Given the description of an element on the screen output the (x, y) to click on. 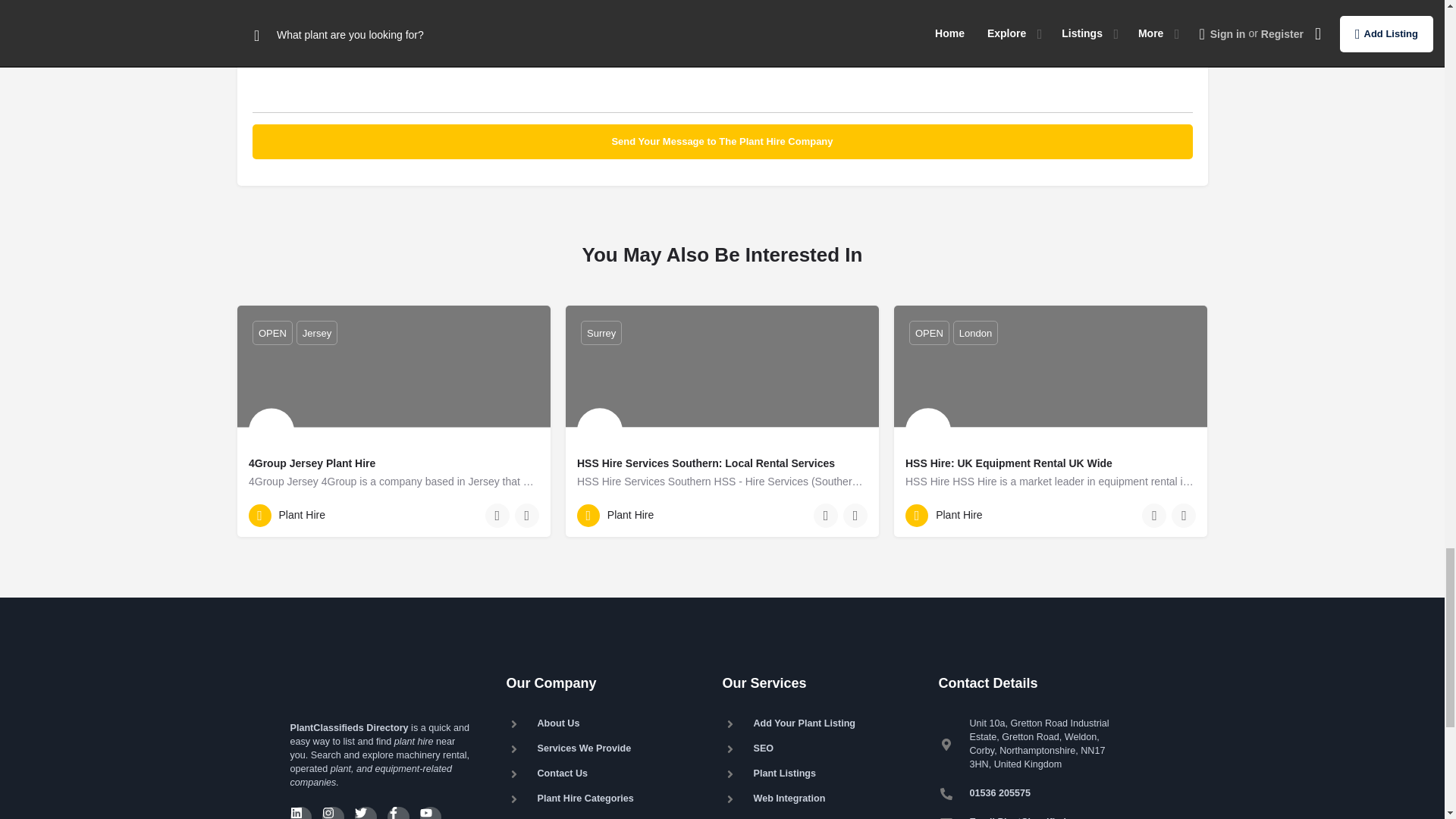
Send Your Message to The Plant Hire Company (721, 141)
